Given the description of an element on the screen output the (x, y) to click on. 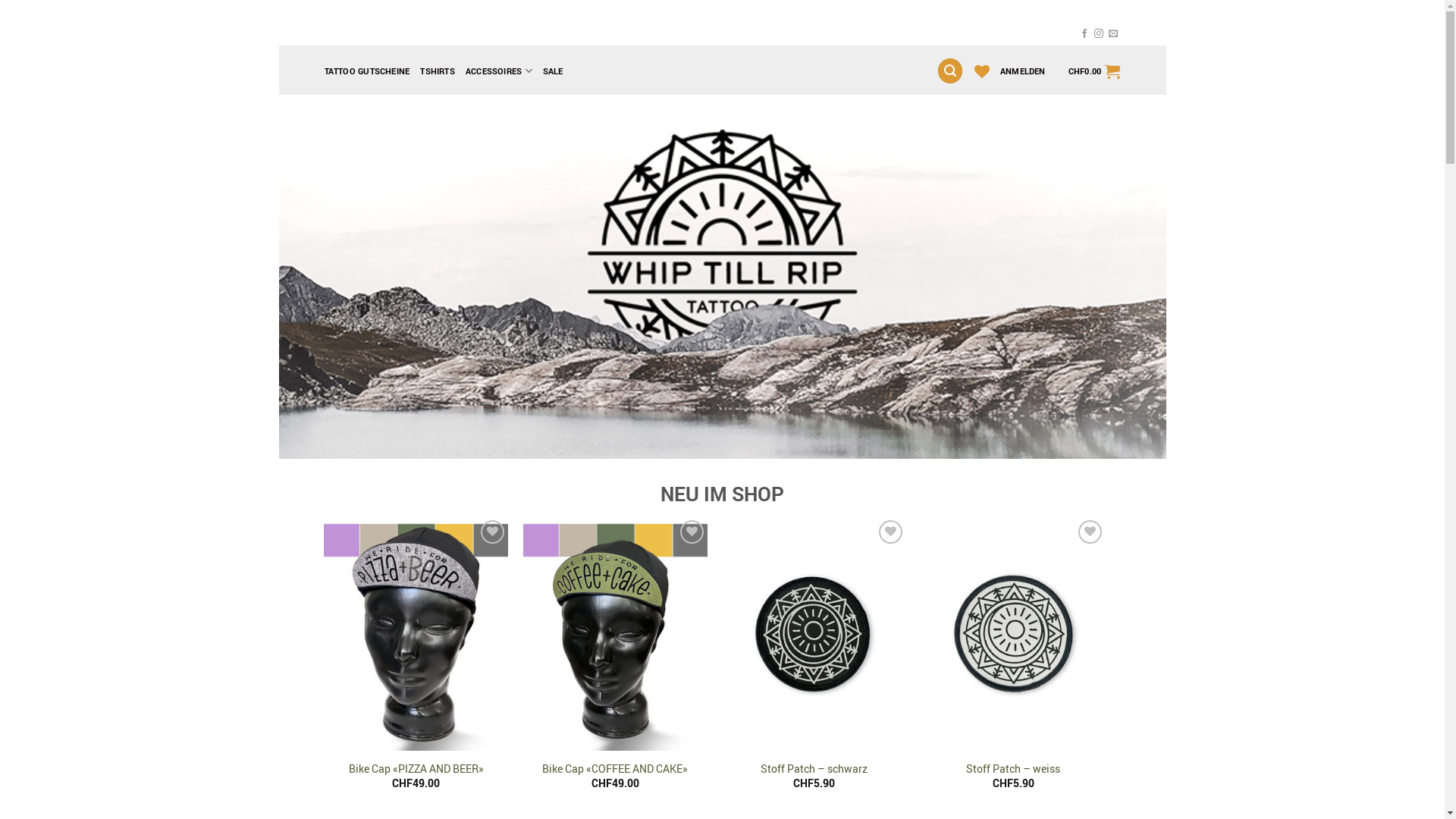
TATTOO GUTSCHEINE Element type: text (367, 70)
TSHIRTS Element type: text (437, 70)
ANMELDEN Element type: text (1022, 70)
CHF0.00 Element type: text (1094, 70)
ACCESSOIRES Element type: text (498, 70)
Follow on Instagram Element type: hover (1098, 33)
Skip to content Element type: text (277, 21)
Follow on Facebook Element type: hover (1083, 33)
SALE Element type: text (552, 70)
Send us an email Element type: hover (1112, 33)
